Given the description of an element on the screen output the (x, y) to click on. 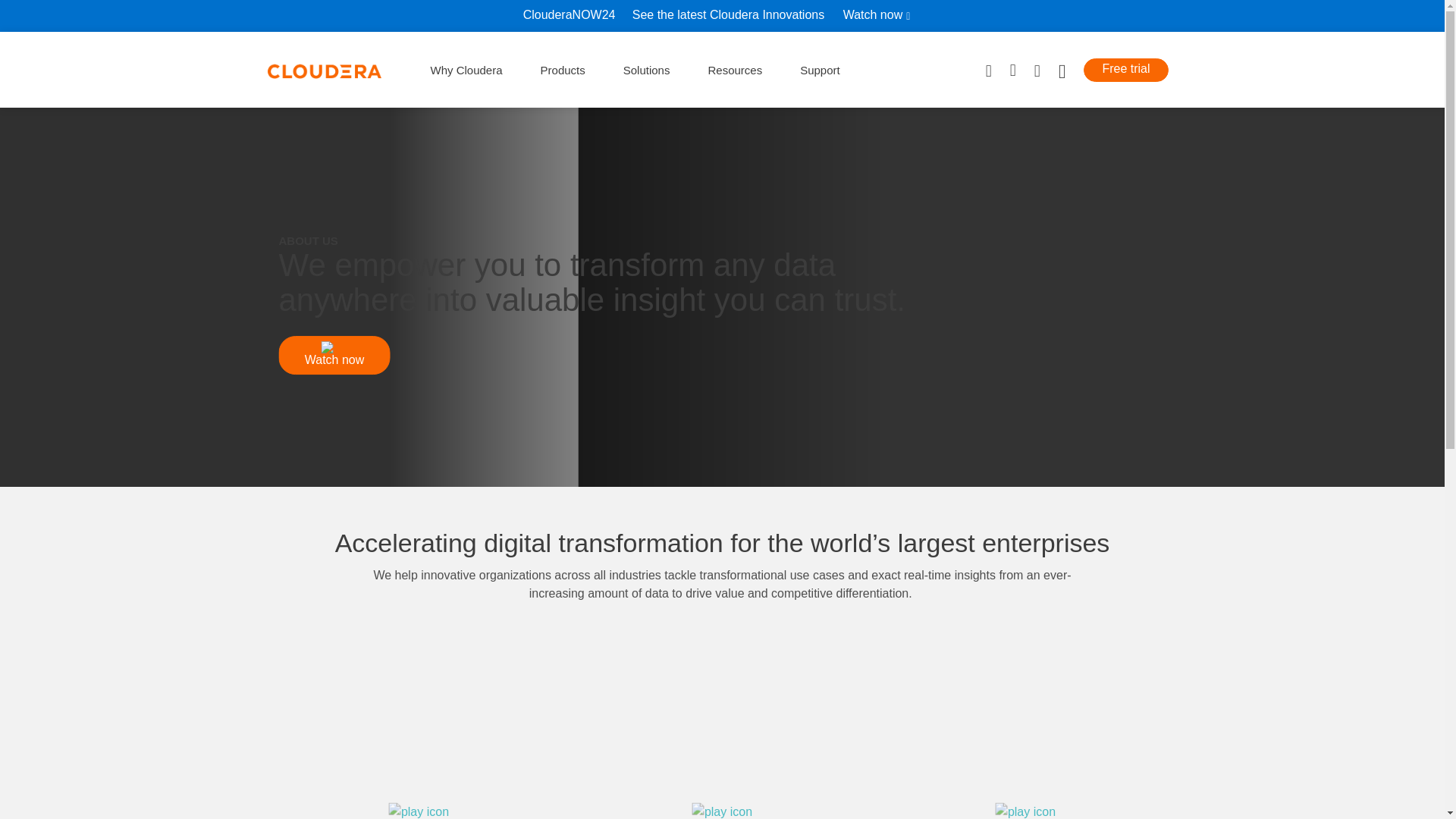
Solutions (646, 69)
Why Cloudera (466, 69)
Watch now (882, 14)
Products (562, 69)
